Given the description of an element on the screen output the (x, y) to click on. 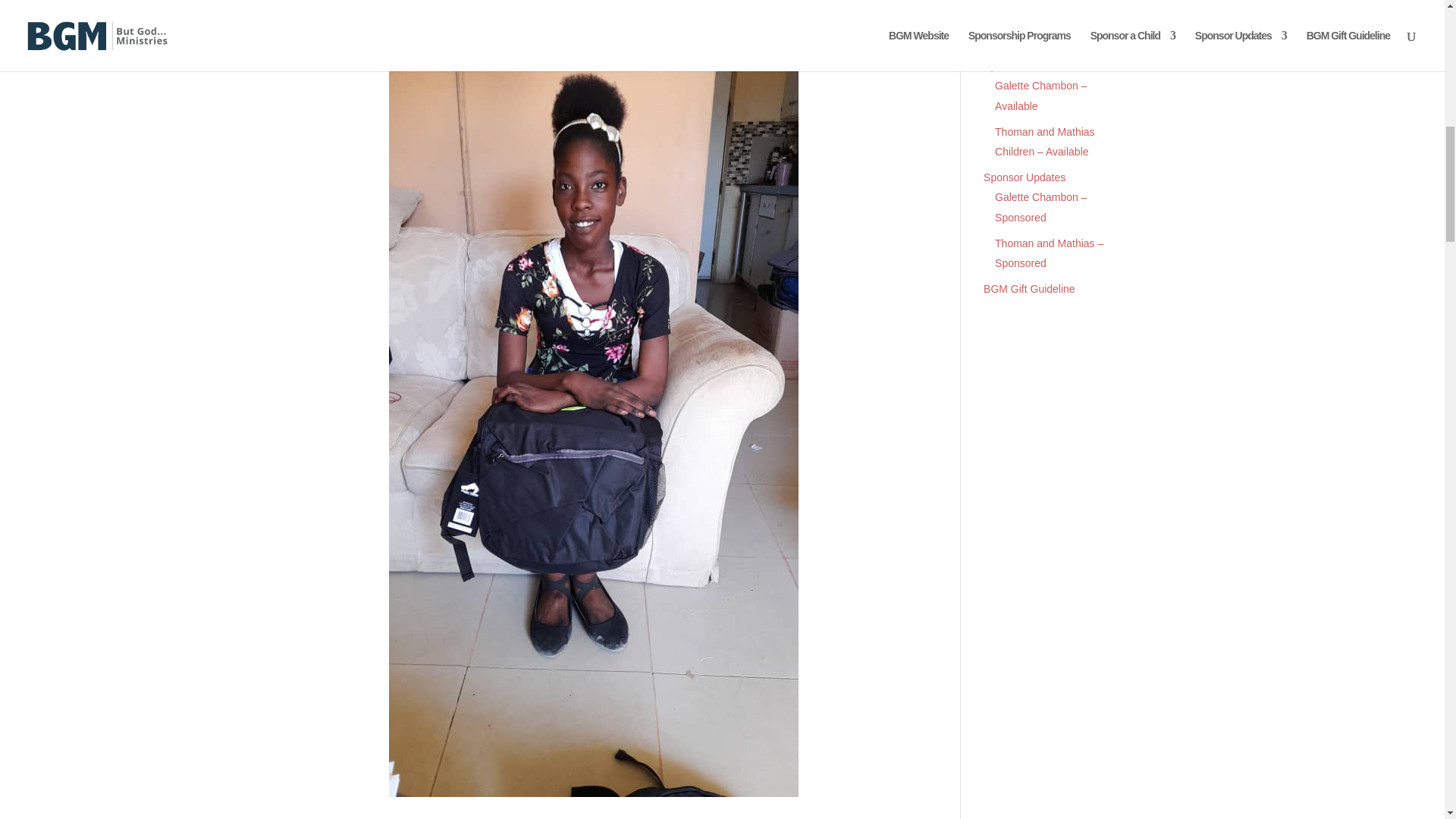
Mickie West (422, 24)
